Given the description of an element on the screen output the (x, y) to click on. 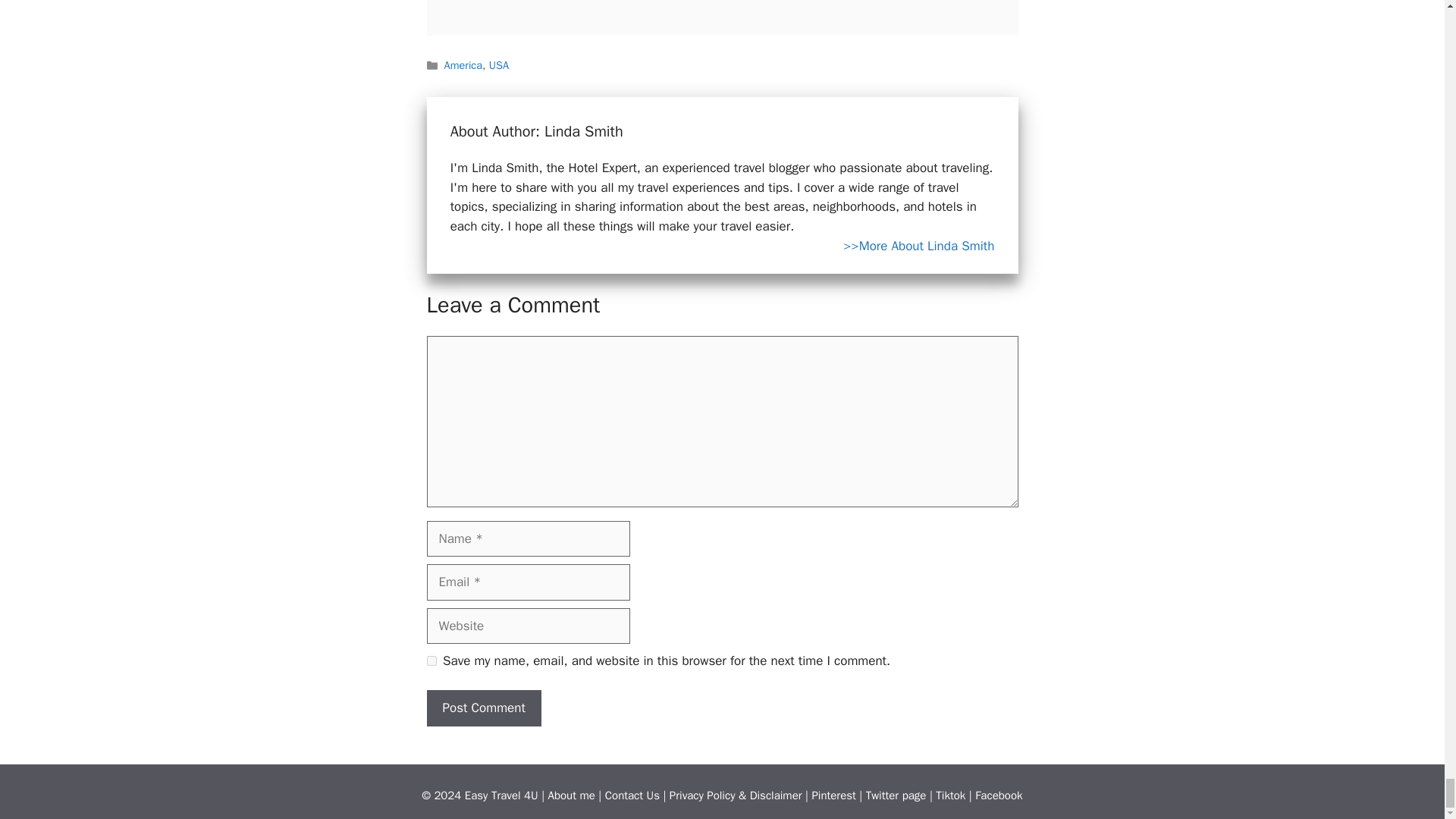
Post Comment (483, 708)
yes (430, 660)
Read more (918, 246)
